Given the description of an element on the screen output the (x, y) to click on. 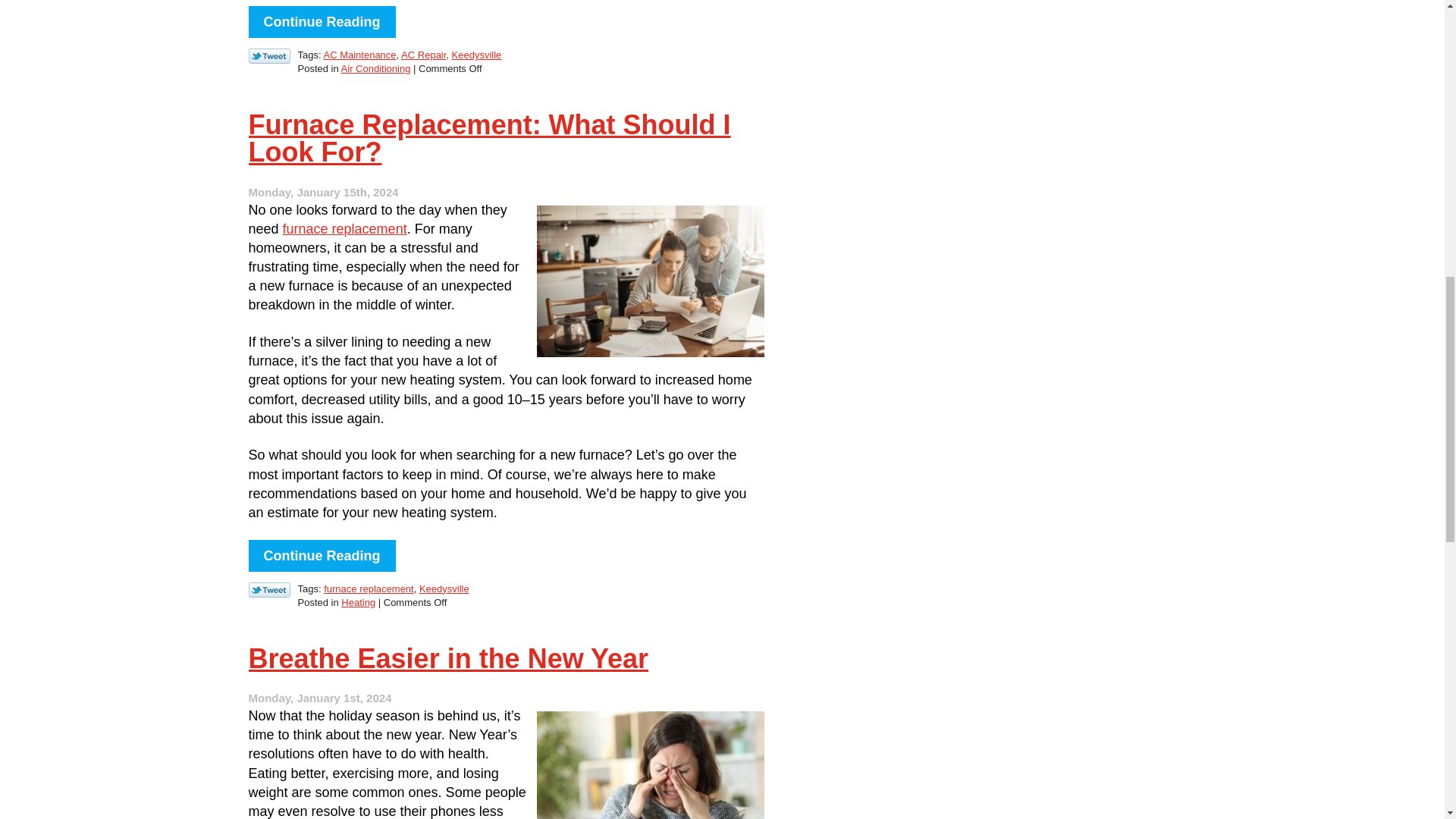
Permanent Link to Breathe Easier in the New Year (448, 658)
